Given the description of an element on the screen output the (x, y) to click on. 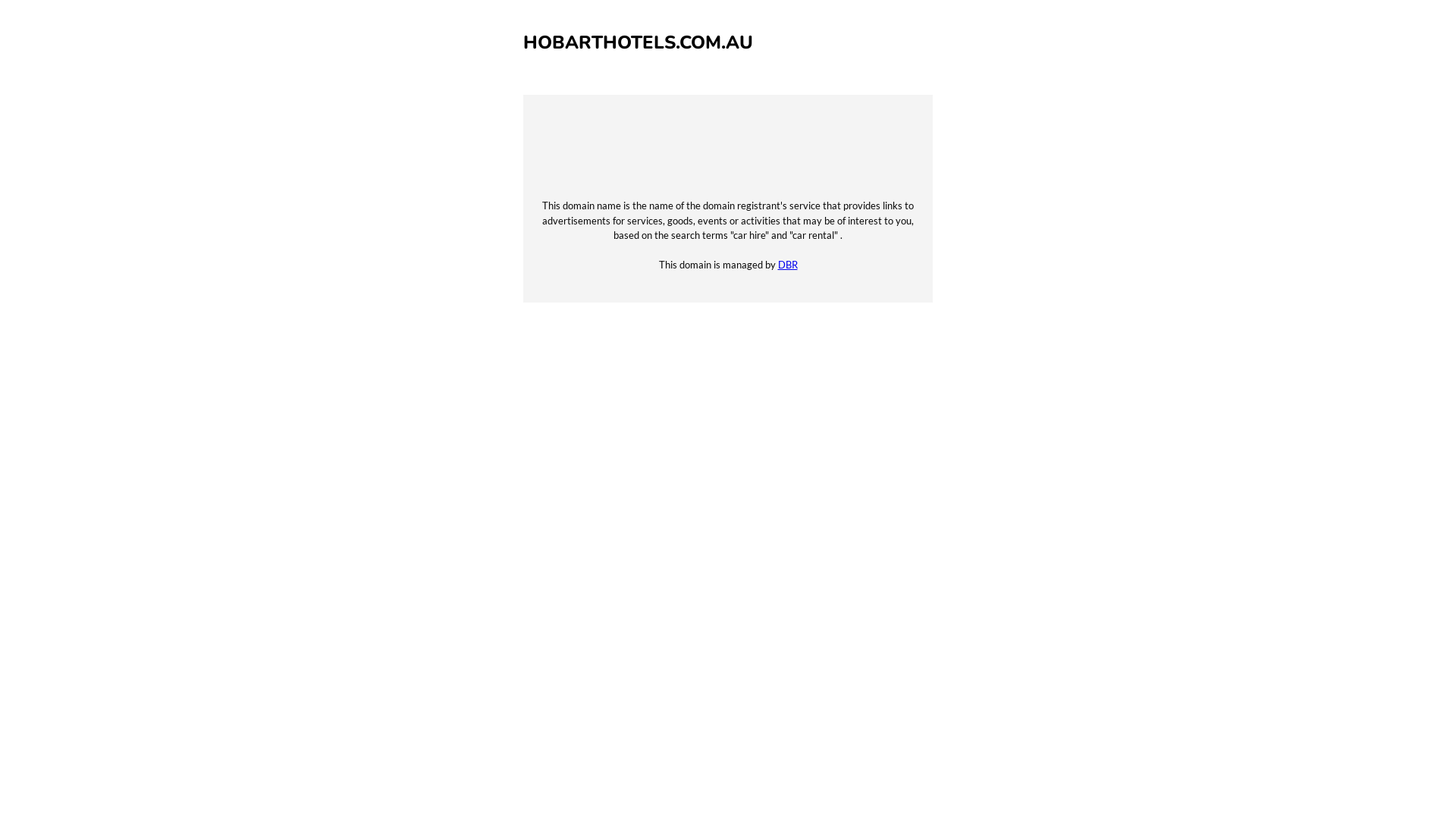
HOBARTHOTELS.COM.AU Element type: text (638, 42)
DBR Element type: text (787, 264)
